Given the description of an element on the screen output the (x, y) to click on. 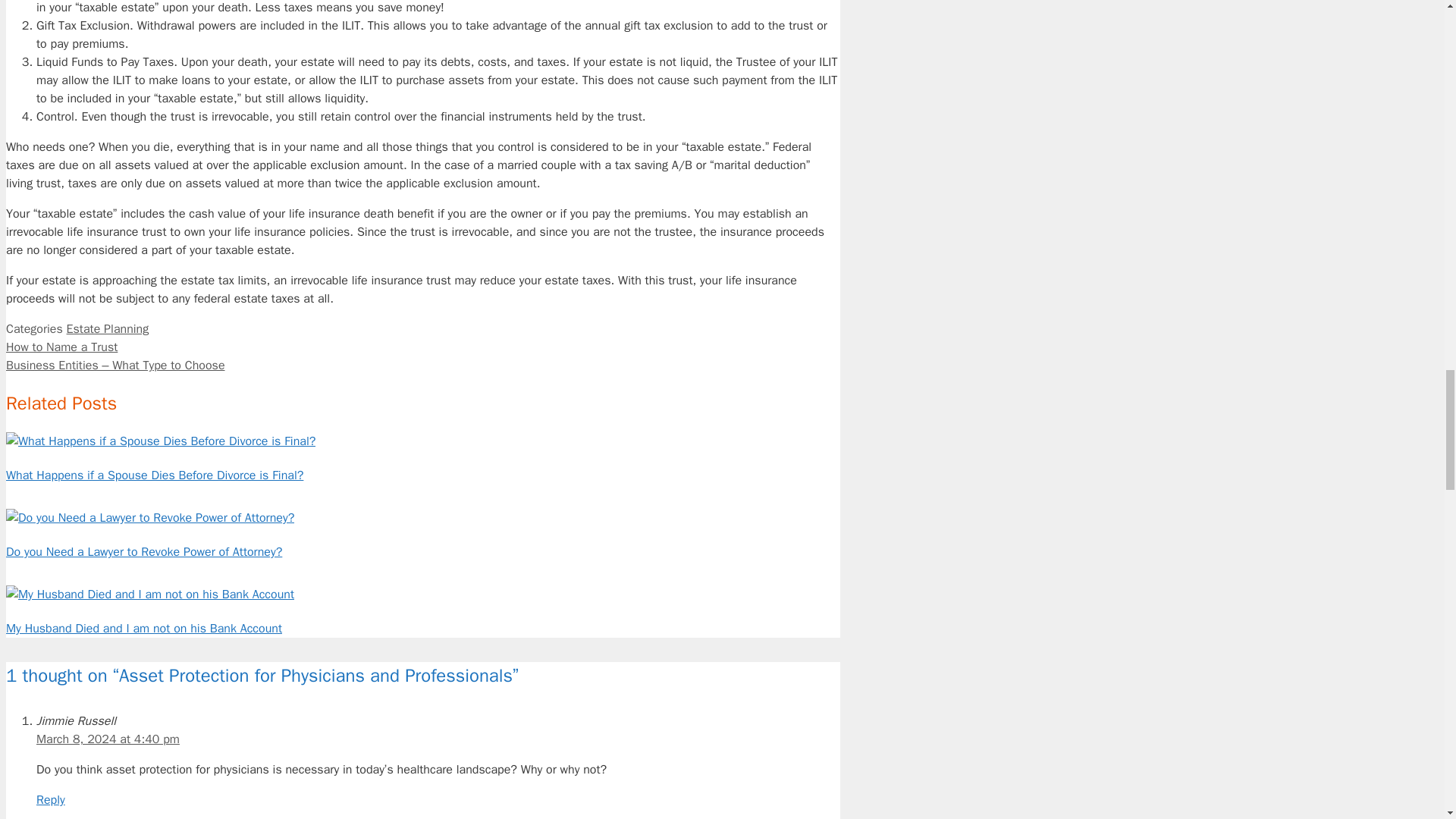
Do you Need a Lawyer to Revoke Power of Attorney? (149, 517)
How to Name a Trust (61, 346)
Do you Need a Lawyer to Revoke Power of Attorney? (143, 551)
My Husband Died and I am not on his Bank Account (149, 594)
What Happens if a Spouse Dies Before Divorce is Final? (160, 441)
What Happens if a Spouse Dies Before Divorce is Final? (153, 475)
Estate Planning (107, 328)
